Given the description of an element on the screen output the (x, y) to click on. 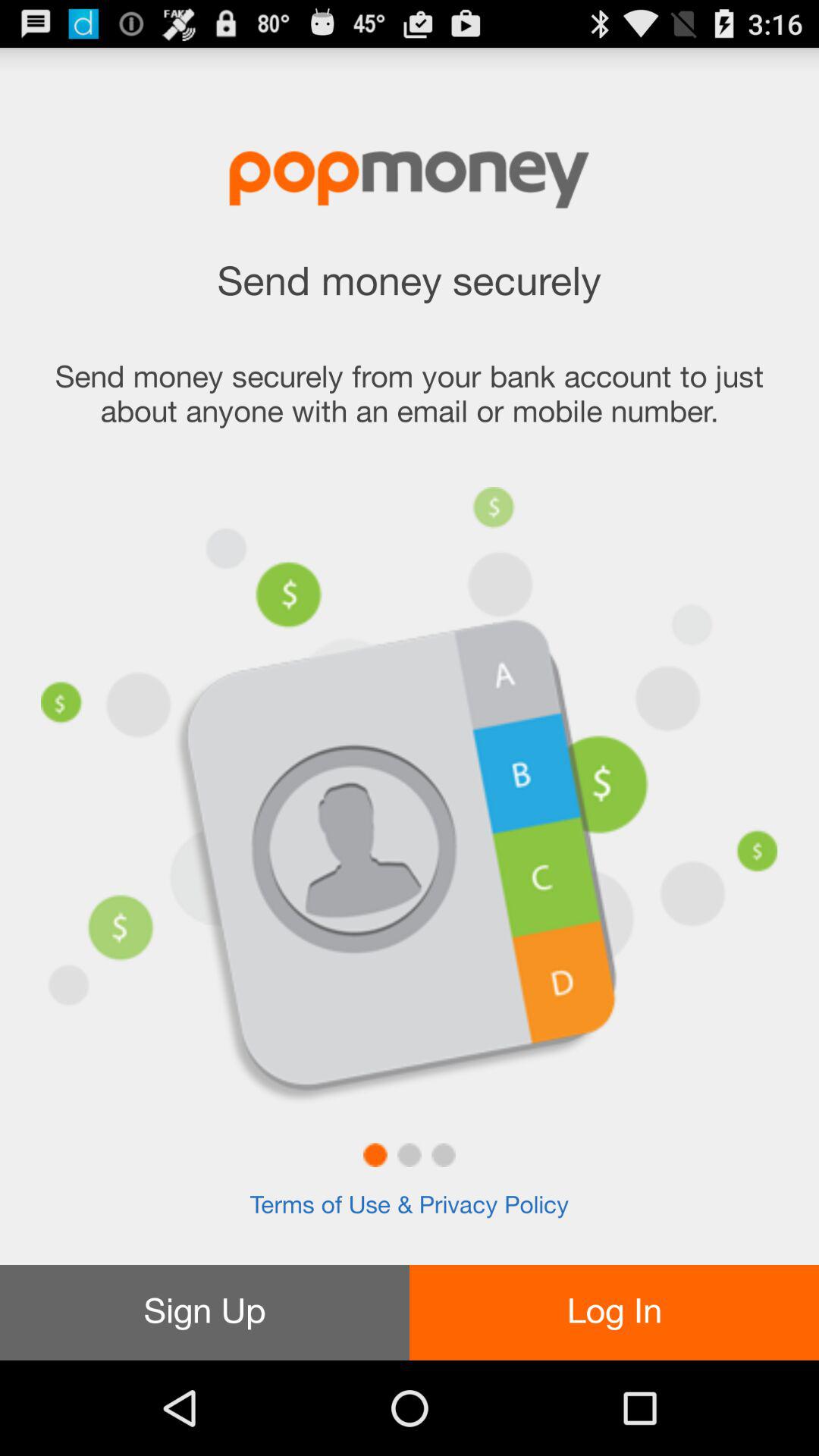
swipe to log in icon (614, 1312)
